Given the description of an element on the screen output the (x, y) to click on. 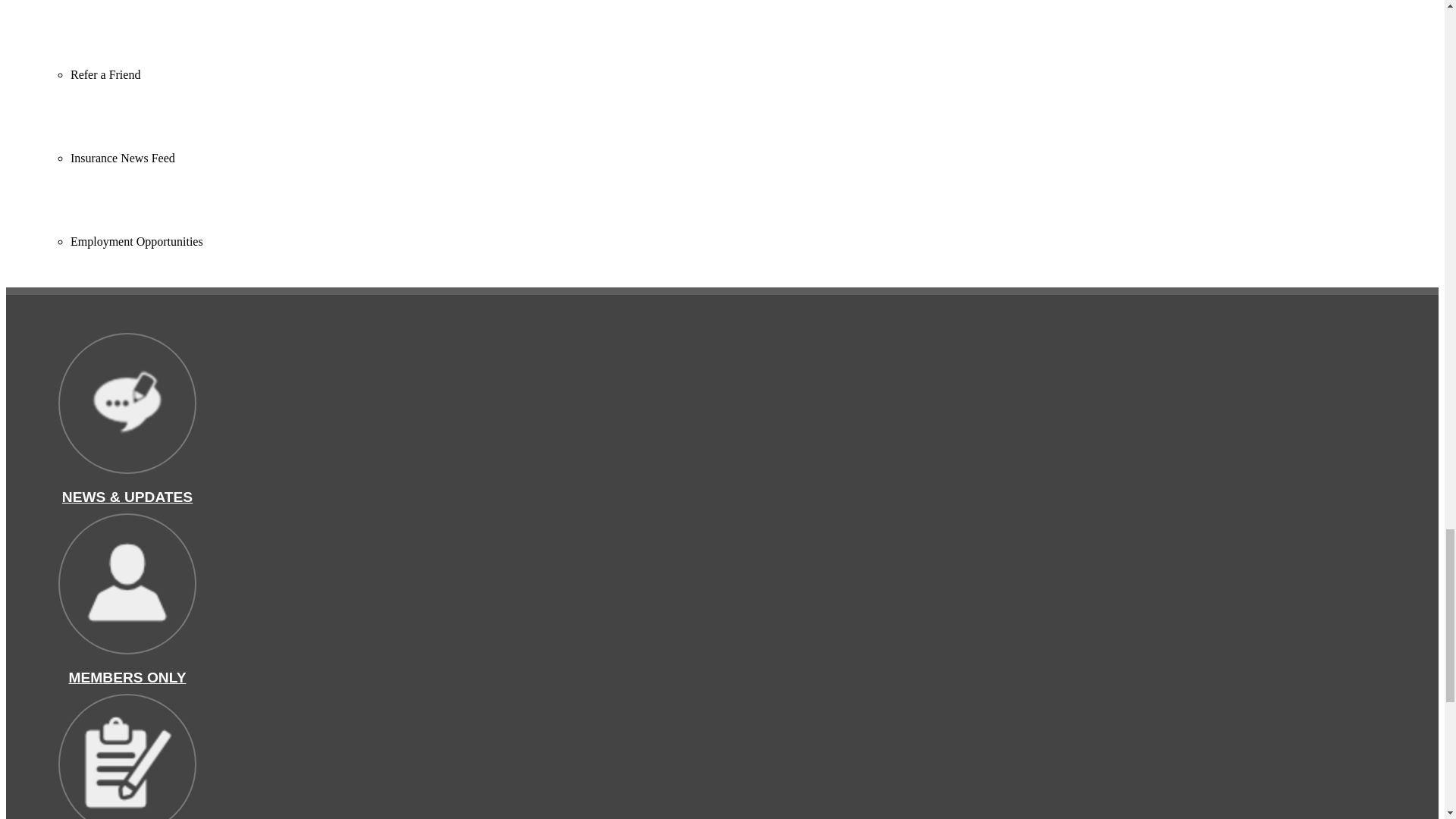
Insurance News Feed (121, 157)
Refer a Friend (104, 74)
Employment Opportunities (136, 241)
